Given the description of an element on the screen output the (x, y) to click on. 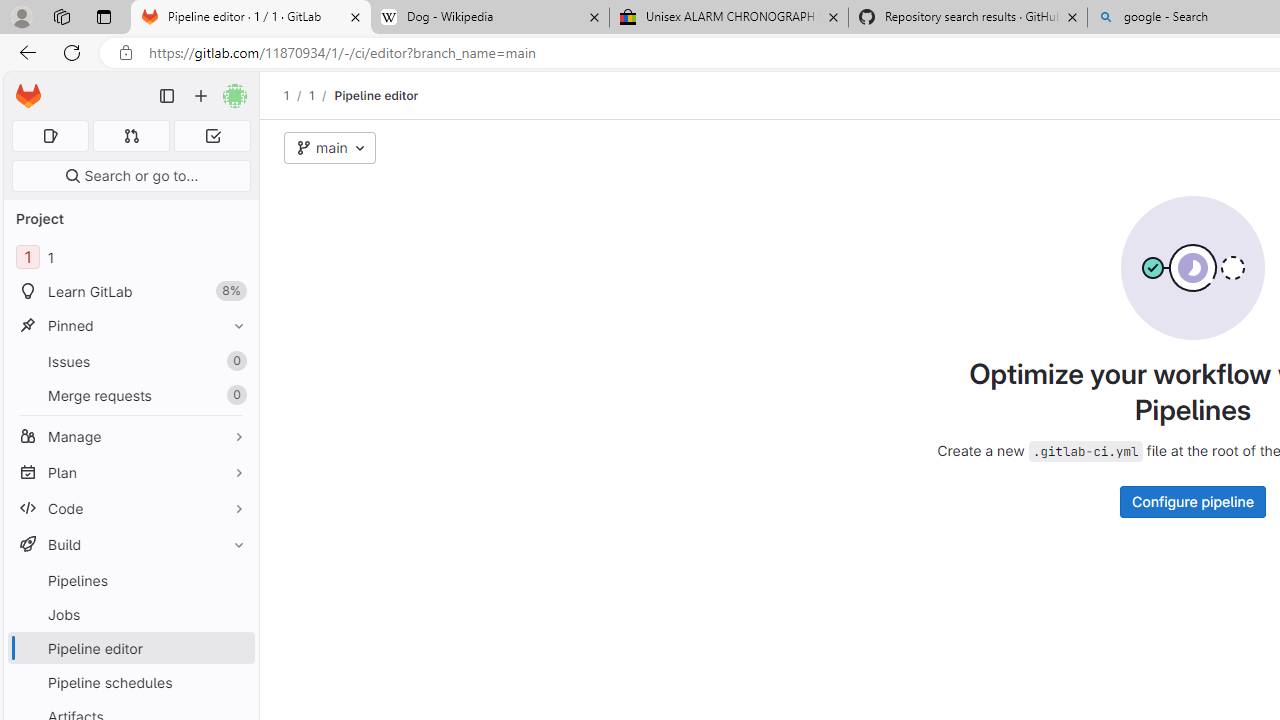
Issues0 (130, 361)
Learn GitLab 8% (130, 291)
Pipeline schedules (130, 682)
Learn GitLab8% (130, 291)
Primary navigation sidebar (167, 96)
Jobs (130, 614)
Unpin Merge requests (234, 395)
Pinned (130, 325)
Issues 0 (130, 361)
Pipeline schedules (130, 682)
Build (130, 543)
